Given the description of an element on the screen output the (x, y) to click on. 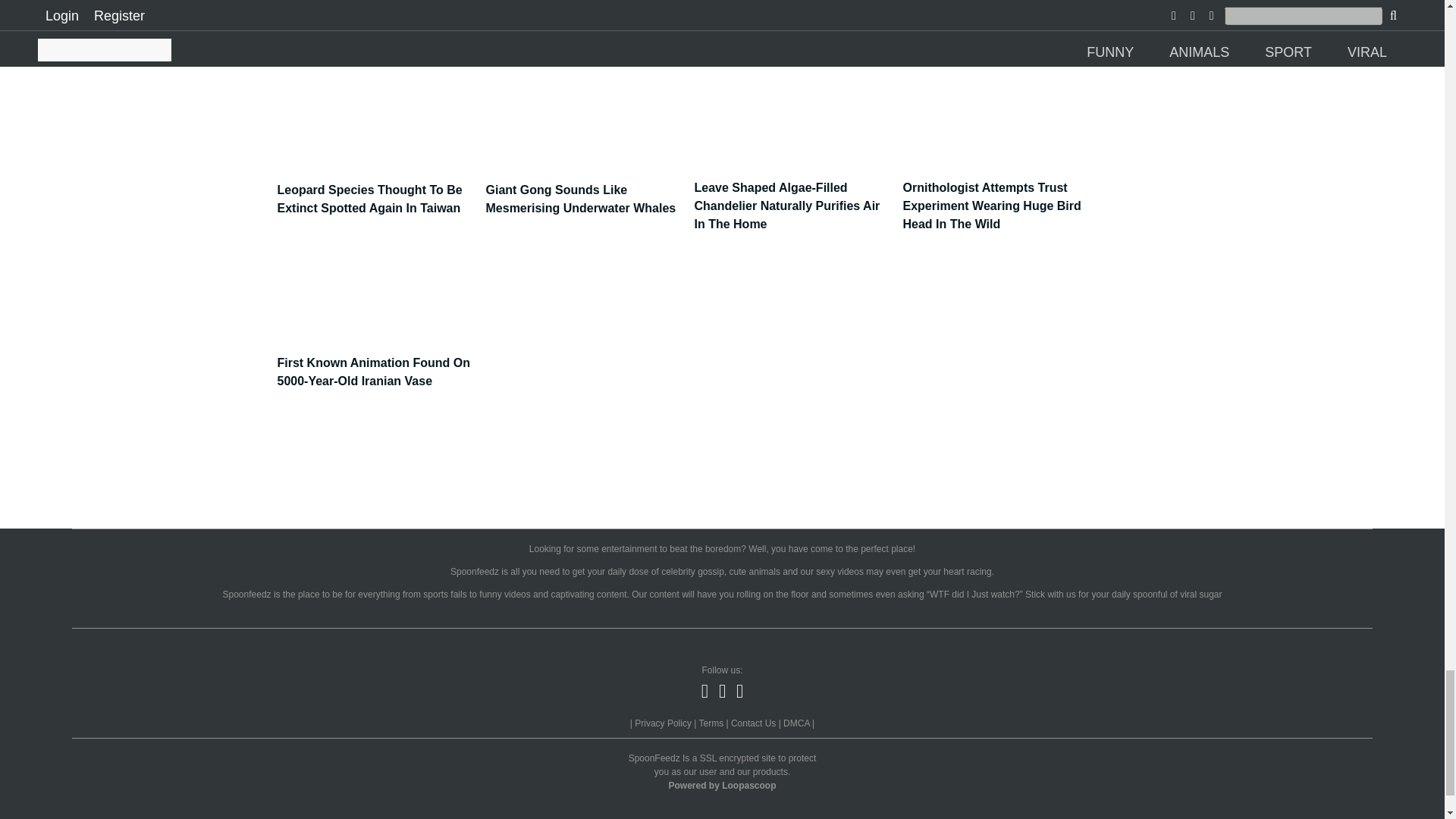
Man Spent Thousands To Live Life As a Dog (584, 21)
Giant Gong Sounds Like Mesmerising Underwater Whales (584, 191)
